Given the description of an element on the screen output the (x, y) to click on. 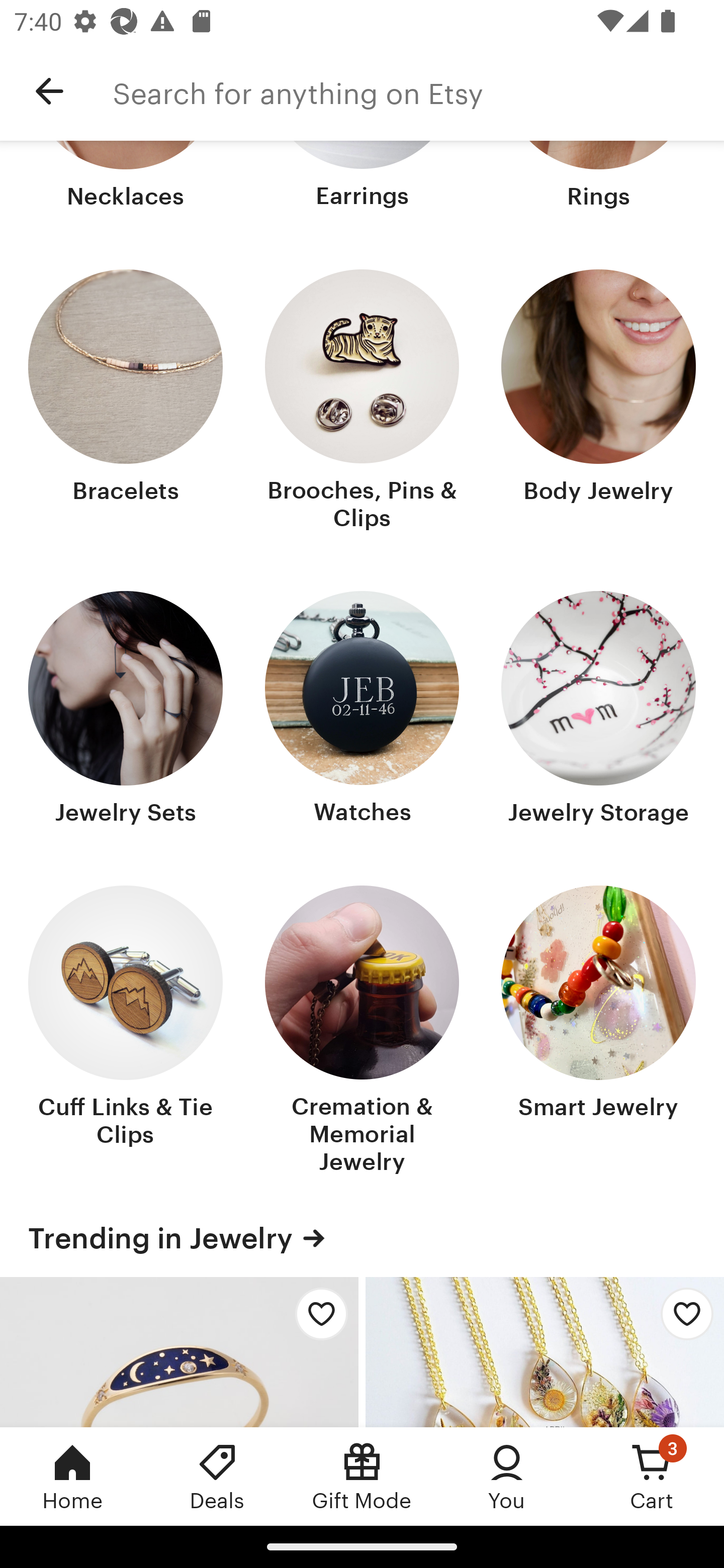
Navigate up (49, 91)
Search for anything on Etsy (418, 91)
Necklaces (125, 177)
Earrings (361, 177)
Rings (598, 177)
Bracelets (125, 401)
Brooches, Pins & Clips (361, 401)
Body Jewelry (598, 401)
Jewelry Sets (125, 710)
Watches (361, 710)
Jewelry Storage (598, 710)
Cuff Links & Tie Clips (125, 1032)
Cremation & Memorial Jewelry (361, 1032)
Smart Jewelry (598, 1032)
Trending in Jewelry  (361, 1237)
Deals (216, 1475)
Gift Mode (361, 1475)
You (506, 1475)
Cart, 3 new notifications Cart (651, 1475)
